Given the description of an element on the screen output the (x, y) to click on. 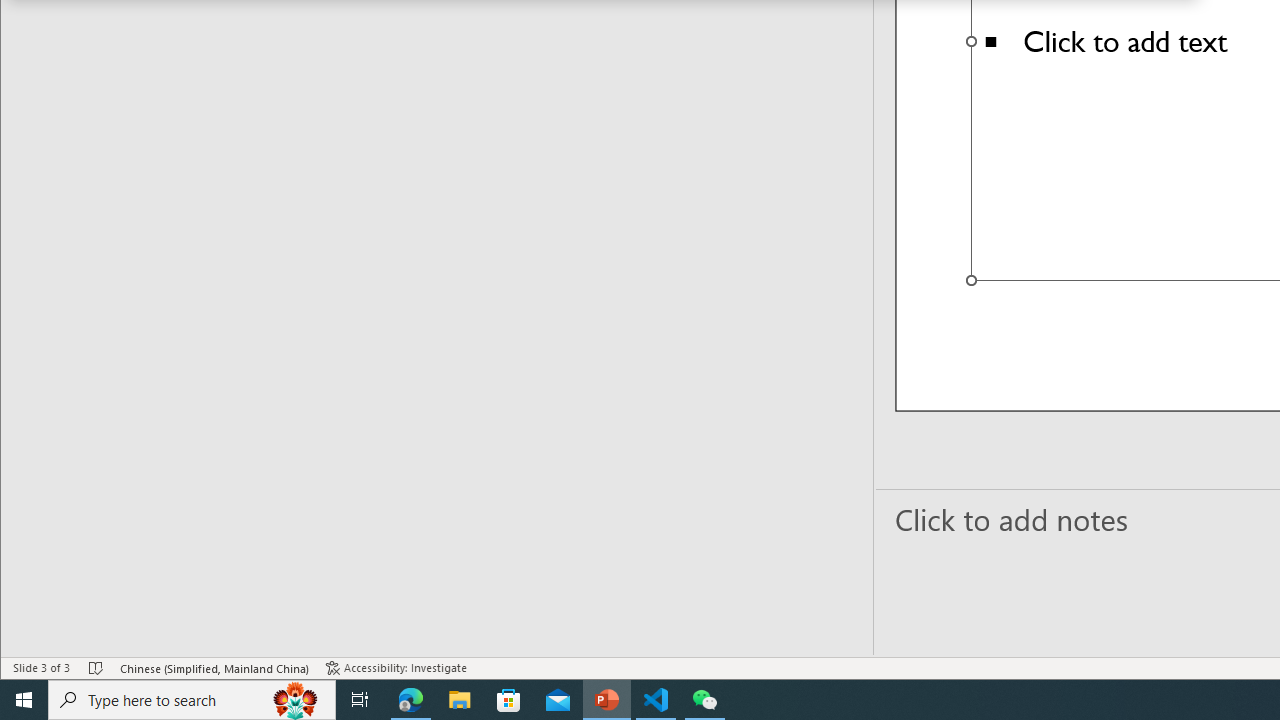
Visual Studio Code - 1 running window (656, 699)
Search highlights icon opens search home window (295, 699)
Start (24, 699)
Task View (359, 699)
Type here to search (191, 699)
Microsoft Edge - 1 running window (411, 699)
File Explorer (460, 699)
Spell Check No Errors (96, 668)
Microsoft Store (509, 699)
WeChat - 1 running window (704, 699)
Accessibility Checker Accessibility: Investigate (395, 668)
PowerPoint - 1 running window (607, 699)
